Given the description of an element on the screen output the (x, y) to click on. 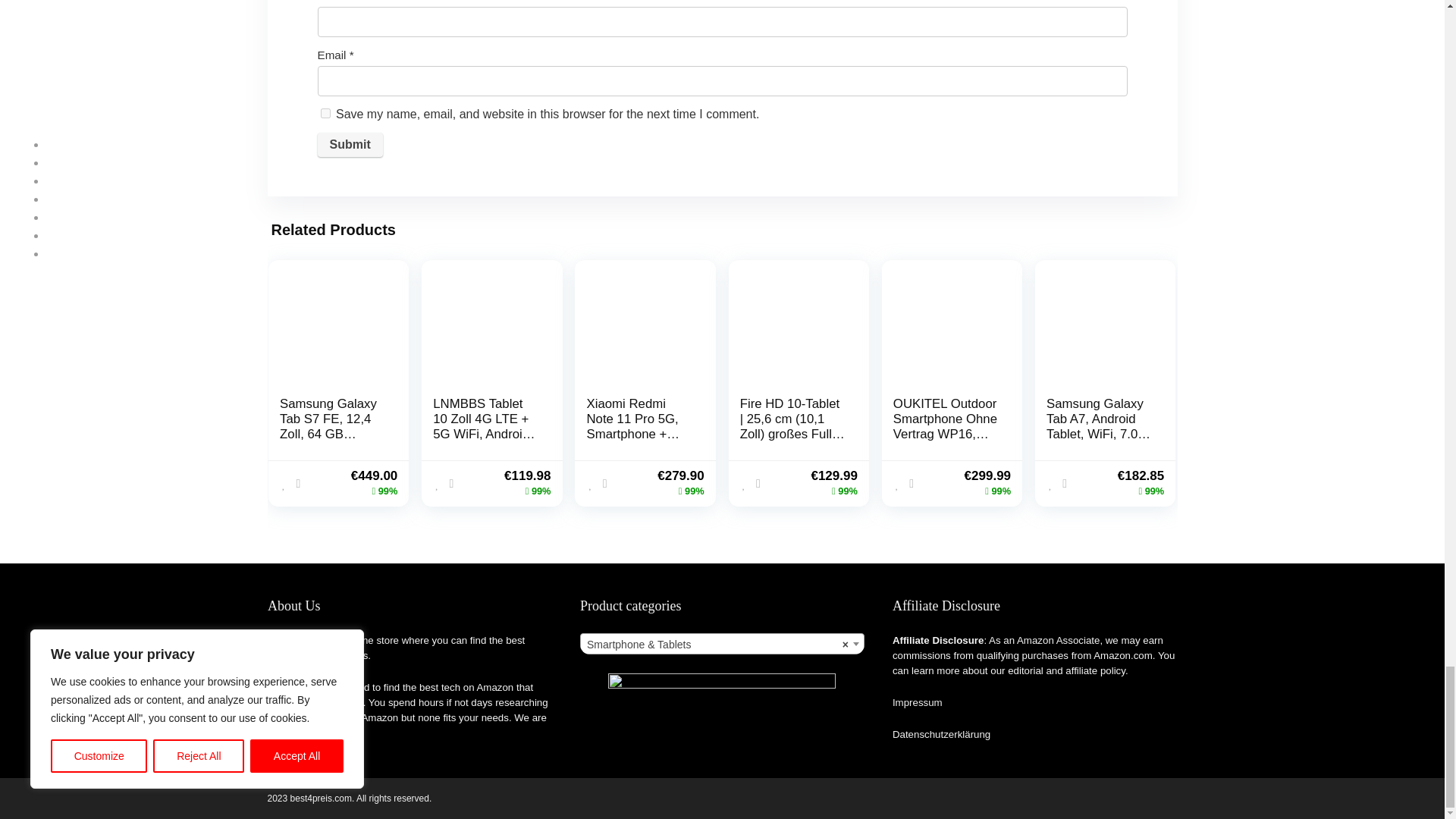
yes (325, 112)
Submit (349, 144)
